Given the description of an element on the screen output the (x, y) to click on. 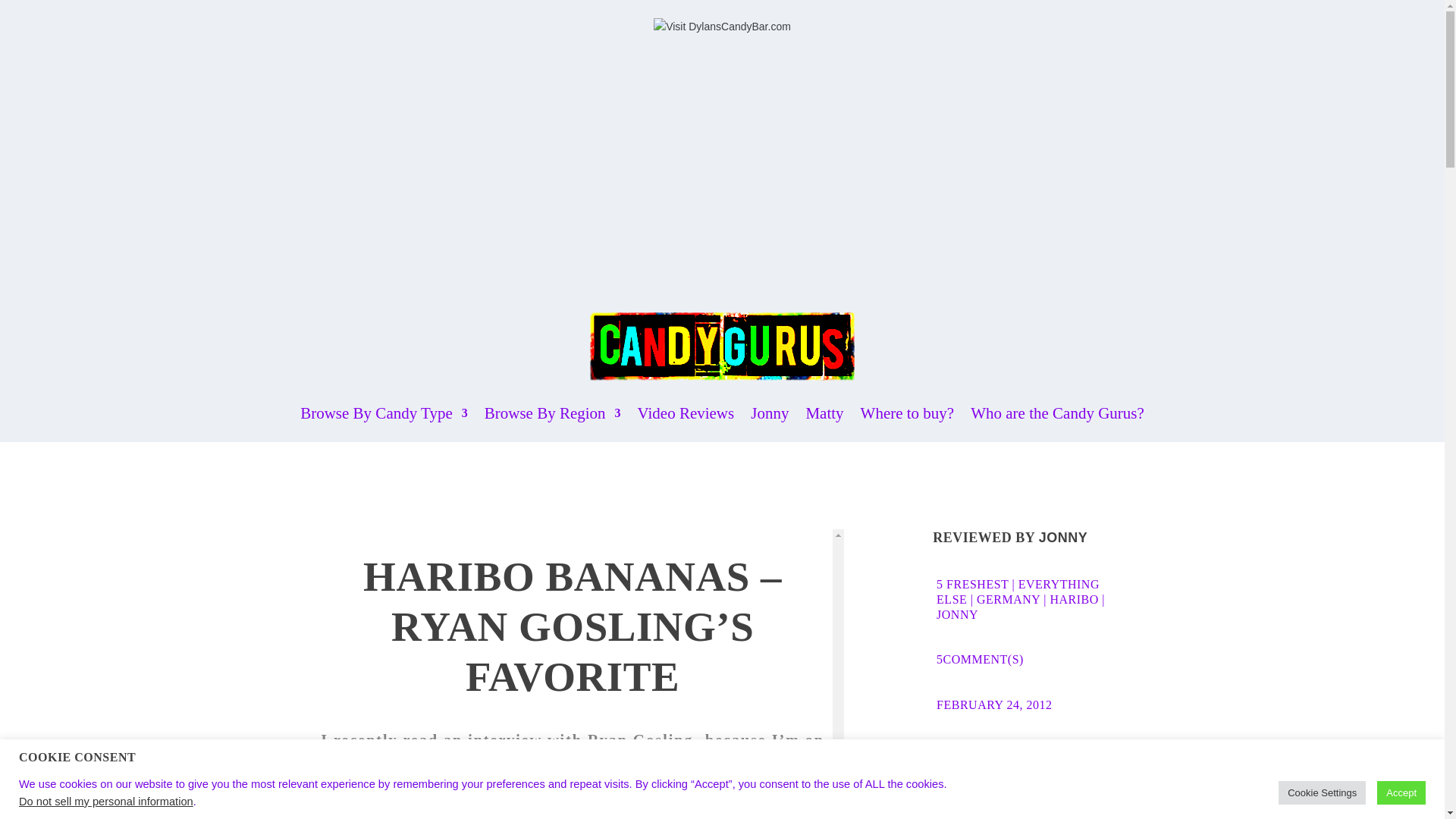
Follow on Instagram (994, 754)
Browse By Candy Type (383, 413)
Follow on Youtube (1024, 754)
Browse By Region (552, 413)
